Given the description of an element on the screen output the (x, y) to click on. 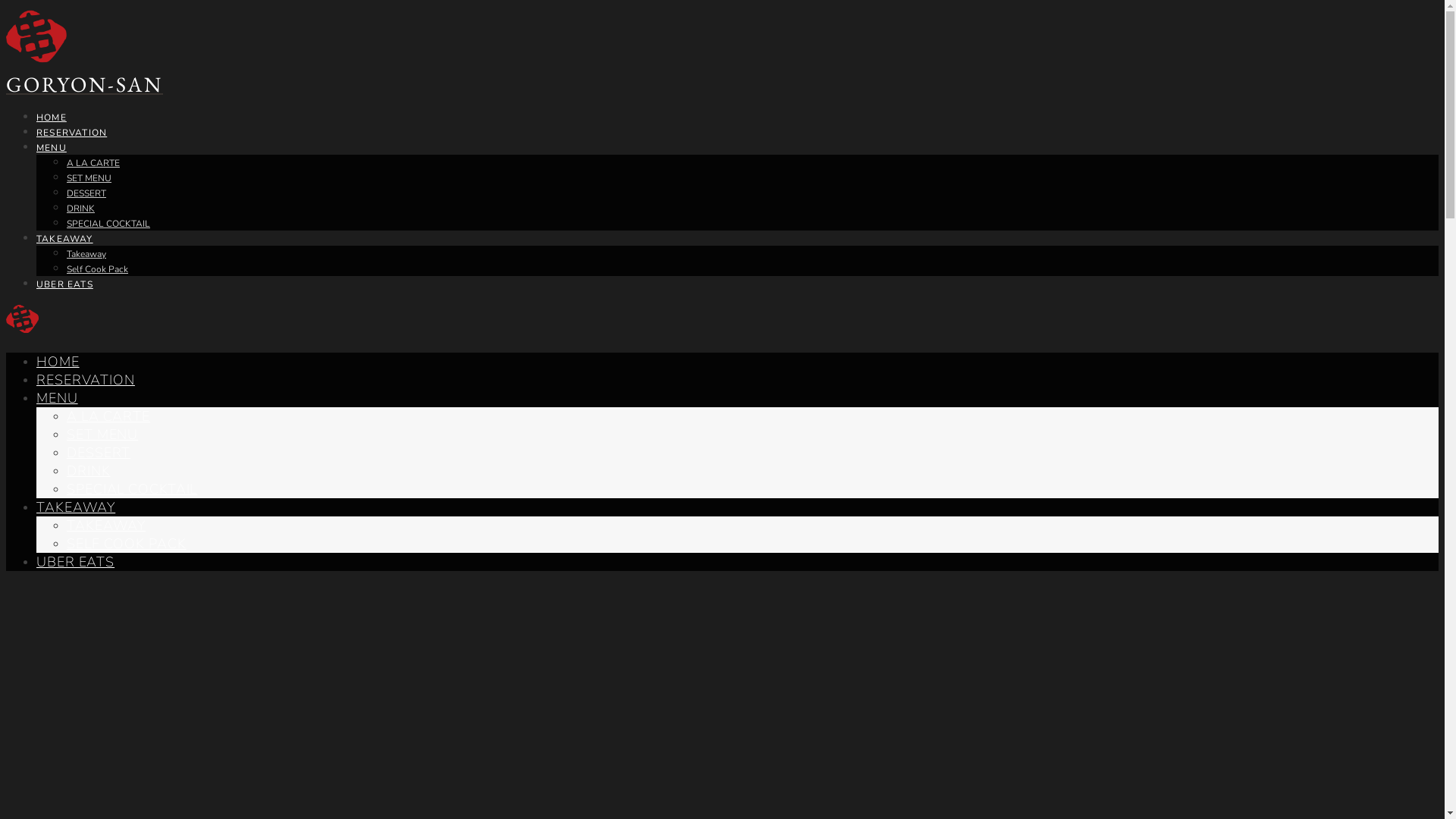
HOME Element type: text (57, 361)
Self Cook Pack Element type: text (97, 269)
UBER EATS Element type: text (64, 284)
MENU Element type: text (51, 147)
TAKEAWAY Element type: text (64, 238)
HOME Element type: text (51, 117)
SET MENU Element type: text (102, 434)
GORYON-SAN Element type: text (84, 83)
TAKEAWAY Element type: text (105, 525)
Takeaway Element type: text (86, 253)
TAKEAWAY Element type: text (75, 507)
RESERVATION Element type: text (85, 379)
SELF COOK PACK Element type: text (126, 543)
MENU Element type: text (57, 398)
DESSERT Element type: text (98, 452)
A LA CARTE Element type: text (108, 416)
SPECIAL COCKTAIL Element type: text (131, 489)
SET MENU Element type: text (88, 178)
RESERVATION Element type: text (71, 132)
DRINK Element type: text (80, 208)
A LA CARTE Element type: text (92, 162)
DRINK Element type: text (88, 470)
SPECIAL COCKTAIL Element type: text (108, 223)
DESSERT Element type: text (86, 193)
UBER EATS Element type: text (75, 561)
